Given the description of an element on the screen output the (x, y) to click on. 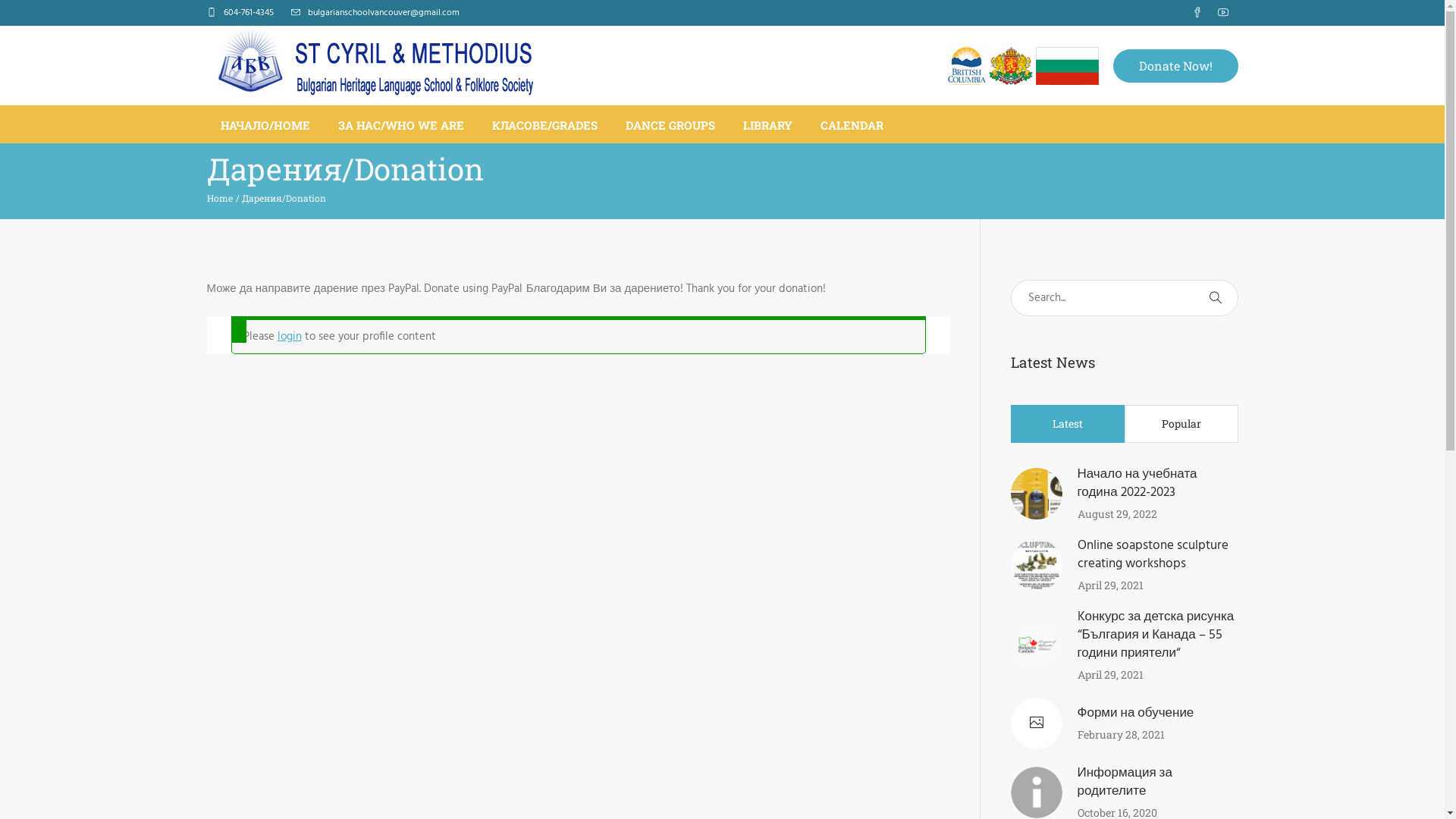
bulgarianschoolvancouver@gmail.com Element type: text (383, 12)
login Element type: text (289, 336)
Online soapstone sculpture creating workshops Element type: hover (1035, 564)
Facebook Element type: hover (1197, 12)
Popular Element type: text (1181, 423)
Online soapstone sculpture creating workshops Element type: text (1151, 554)
LIBRARY Element type: text (767, 124)
DANCE GROUPS Element type: text (669, 124)
CALENDAR Element type: text (851, 124)
Home Element type: text (219, 197)
Donate Now! Element type: text (1175, 64)
Online soapstone sculpture creating workshops Element type: hover (1035, 564)
YouTube Element type: hover (1223, 12)
Latest Element type: text (1067, 423)
